Given the description of an element on the screen output the (x, y) to click on. 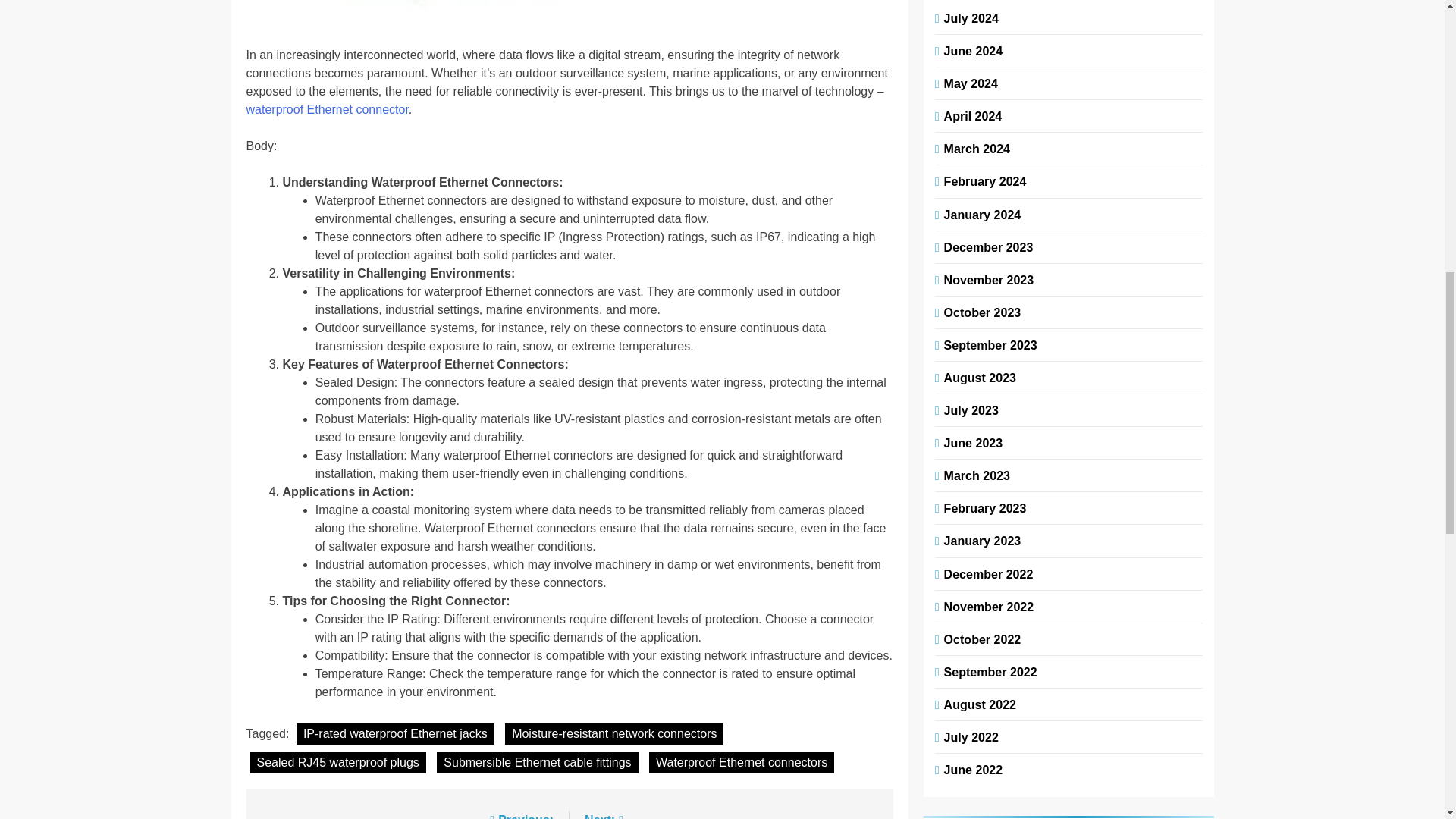
Submersible Ethernet cable fittings (536, 762)
Sealed RJ45 waterproof plugs (338, 762)
IP-rated waterproof Ethernet jacks (396, 733)
Waterproof Ethernet connectors (741, 762)
Moisture-resistant network connectors (614, 733)
waterproof Ethernet connector (326, 109)
